Given the description of an element on the screen output the (x, y) to click on. 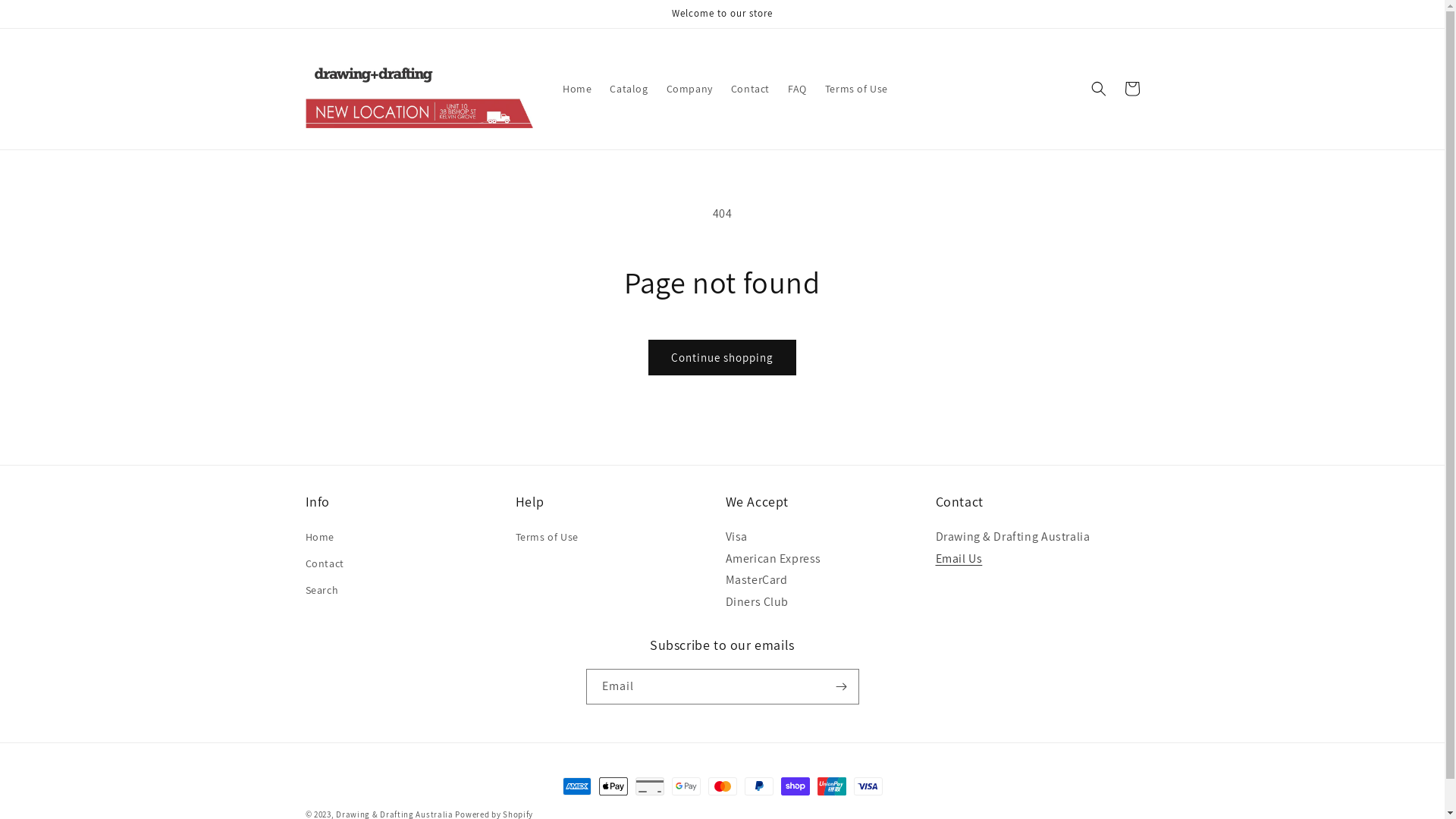
Contact Element type: text (323, 563)
Company Element type: text (689, 88)
Terms of Use Element type: text (856, 88)
Terms of Use Element type: text (546, 538)
Catalog Element type: text (628, 88)
FAQ Element type: text (796, 88)
Contact Element type: text (749, 88)
Search Element type: text (321, 590)
Email Us Element type: text (958, 558)
Home Element type: text (576, 88)
Continue shopping Element type: text (722, 357)
Cart Element type: text (1131, 88)
Home Element type: text (318, 538)
